Given the description of an element on the screen output the (x, y) to click on. 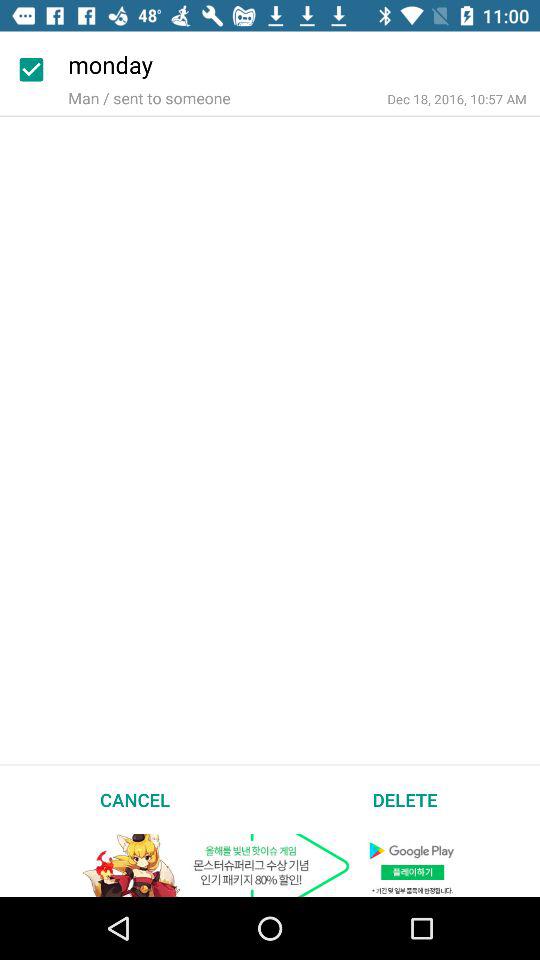
launch delete item (405, 799)
